Given the description of an element on the screen output the (x, y) to click on. 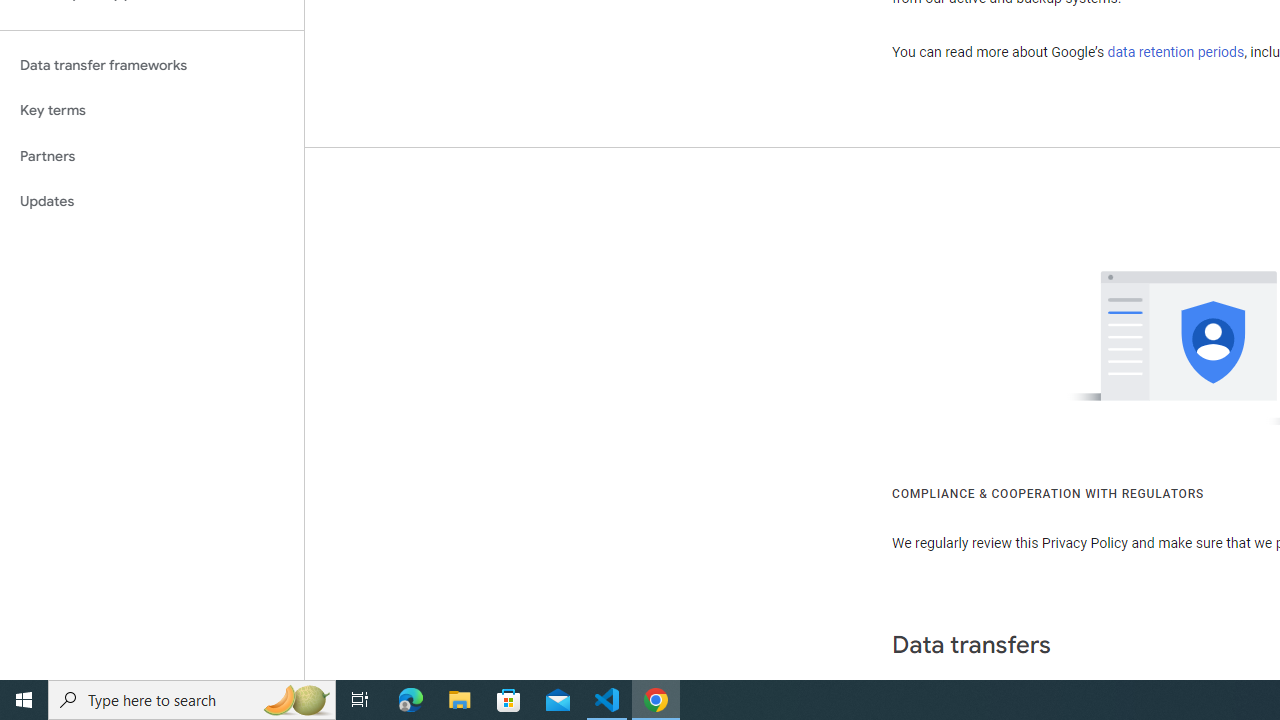
data retention periods (1176, 52)
